Given the description of an element on the screen output the (x, y) to click on. 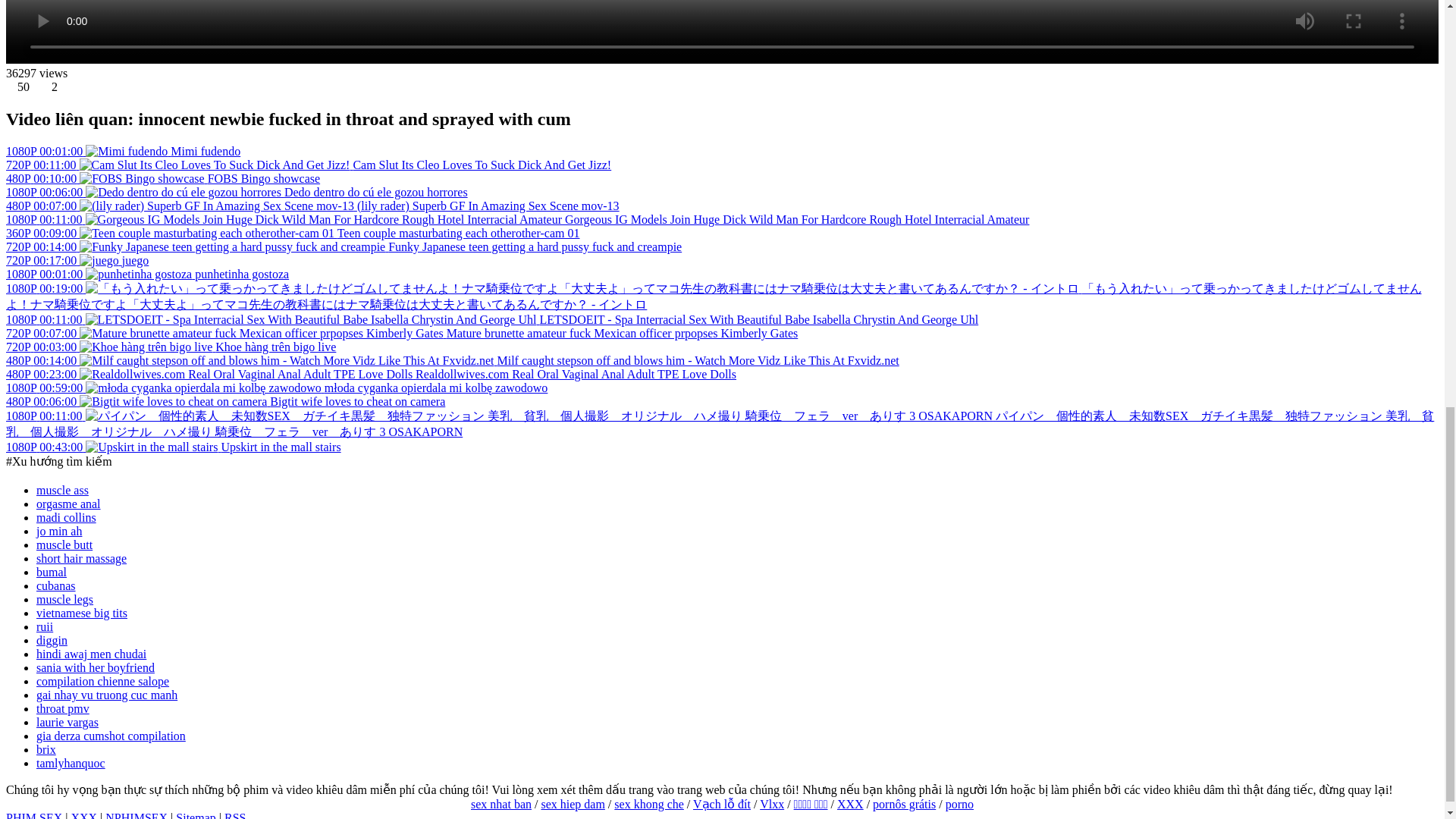
360P 00:09:00 (171, 232)
Mimi fudendo (87, 151)
480P 00:07:00 (180, 205)
Mimi fudendo (205, 151)
720P 00:17:00 (63, 259)
Teen couple masturbating each otherother-cam 01 (458, 232)
1080P 00:06:00 (144, 192)
2 (54, 86)
1080P 00:11:00 (284, 219)
480P 00:10:00 (106, 178)
Funky Japanese teen getting a hard pussy fuck and creampie (534, 246)
50 (25, 86)
I like this (24, 86)
juego (135, 259)
